Given the description of an element on the screen output the (x, y) to click on. 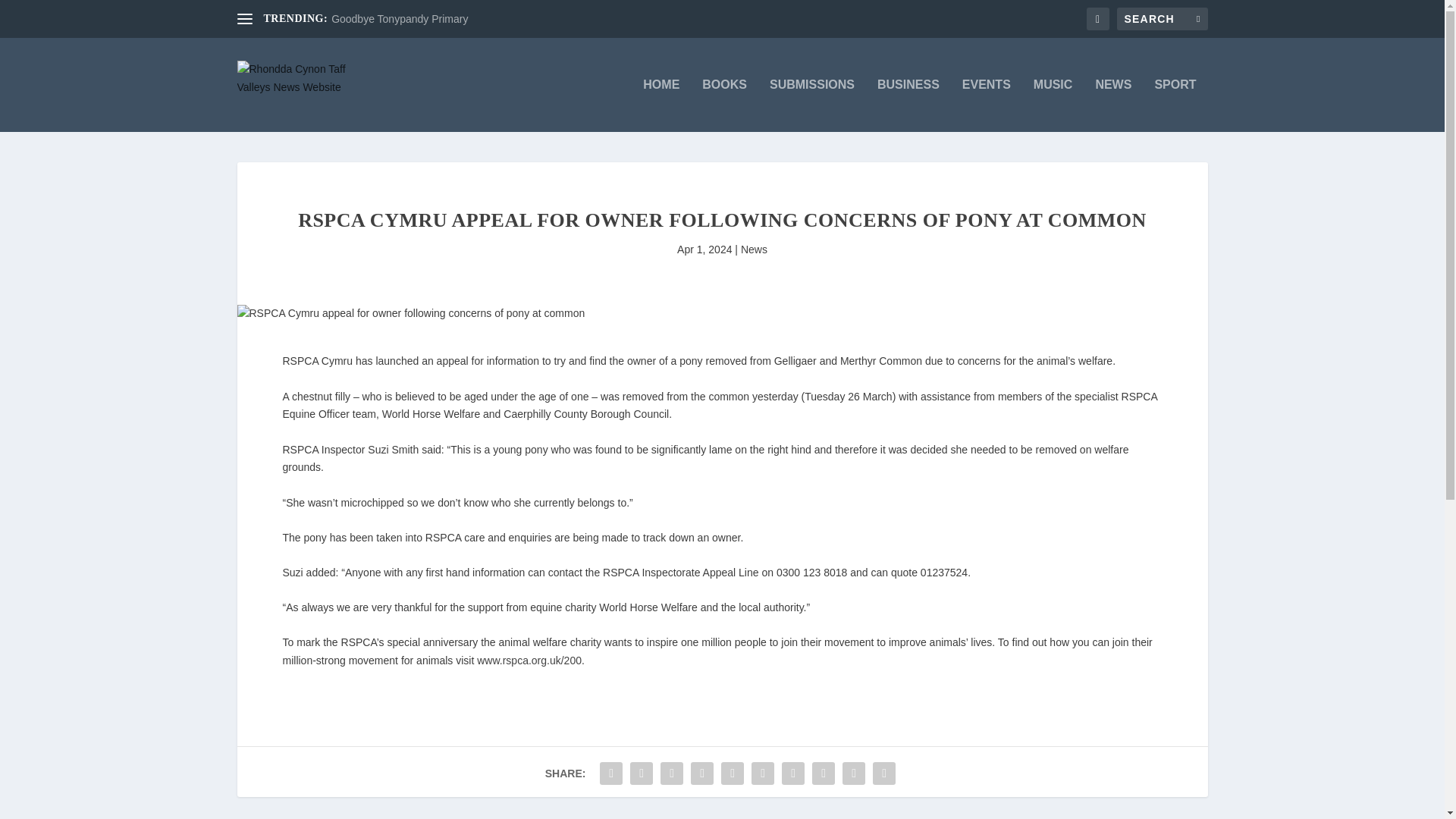
Search for: (1161, 18)
News (754, 249)
HOME (661, 104)
BUSINESS (908, 104)
MUSIC (1053, 104)
SPORT (1174, 104)
SUBMISSIONS (812, 104)
NEWS (1112, 104)
